Given the description of an element on the screen output the (x, y) to click on. 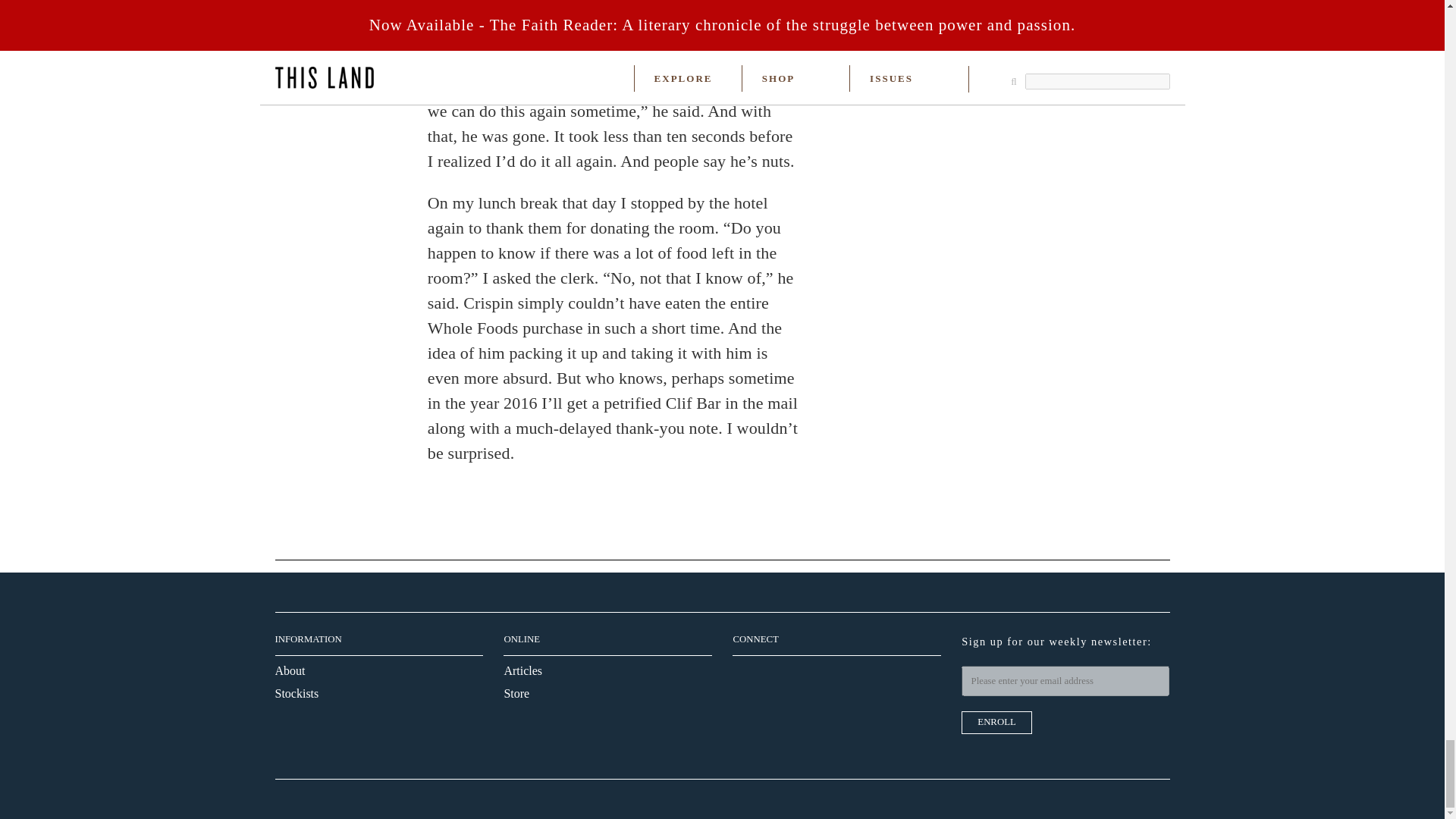
Articles (522, 670)
Enroll (995, 722)
Store (516, 693)
About (289, 670)
Stockists (296, 693)
Enroll (995, 722)
